Given the description of an element on the screen output the (x, y) to click on. 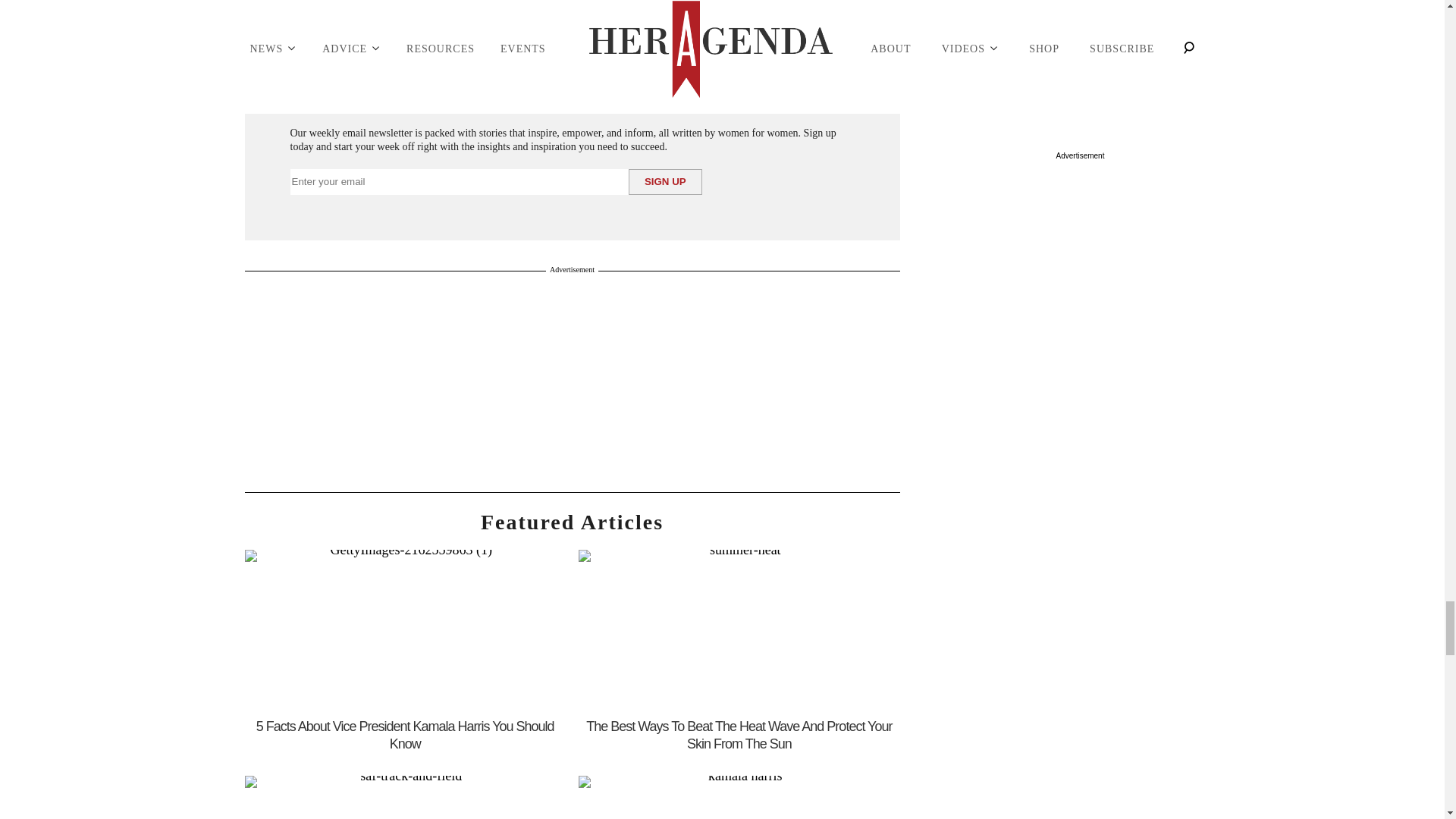
SIGN UP (664, 181)
Featured (571, 522)
